Given the description of an element on the screen output the (x, y) to click on. 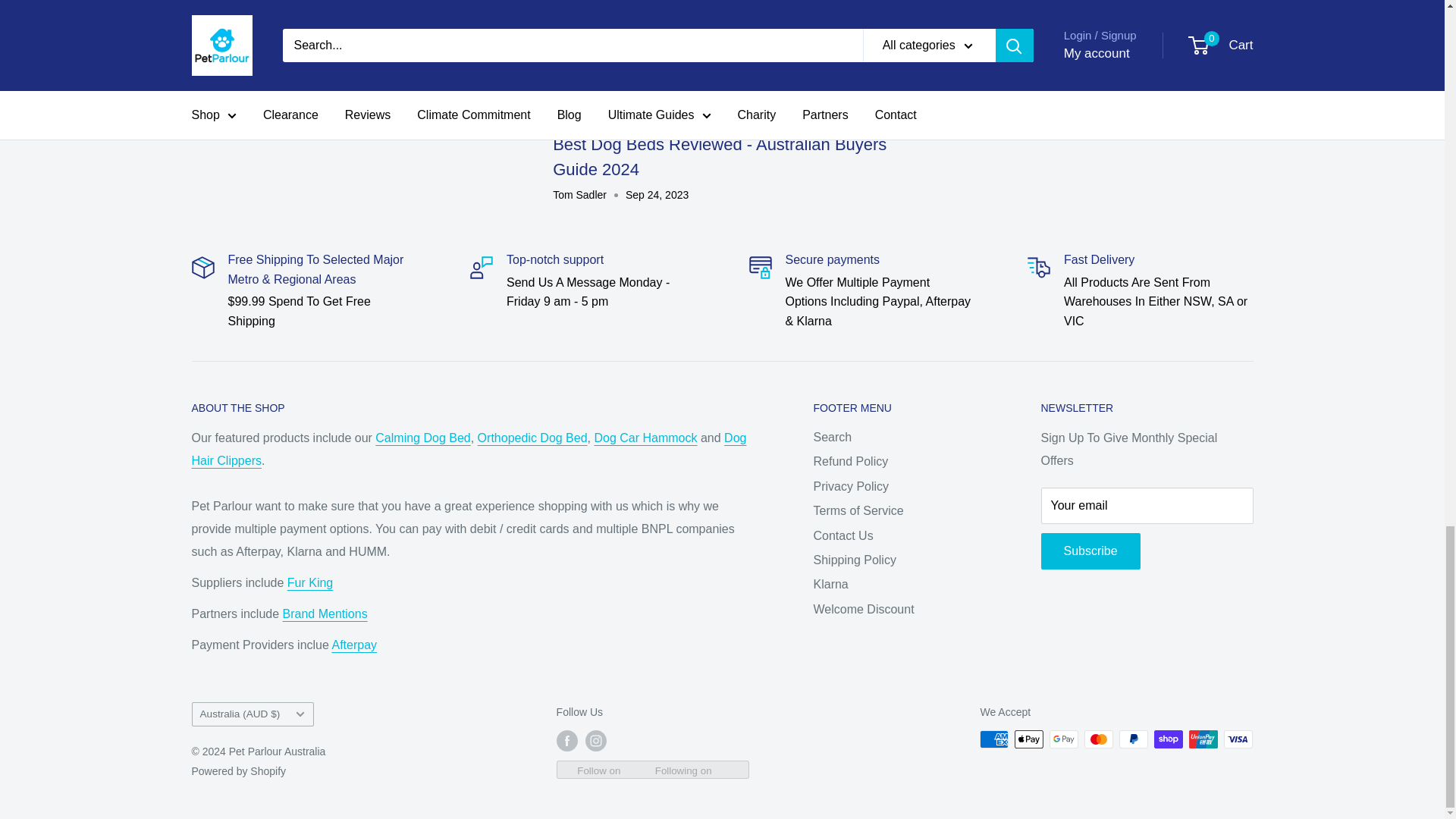
Calming Dog Bed (422, 437)
Dog Car Hammock (645, 437)
Dog Hair Clippers (467, 448)
Orthopedic Dog Bed (532, 437)
